Given the description of an element on the screen output the (x, y) to click on. 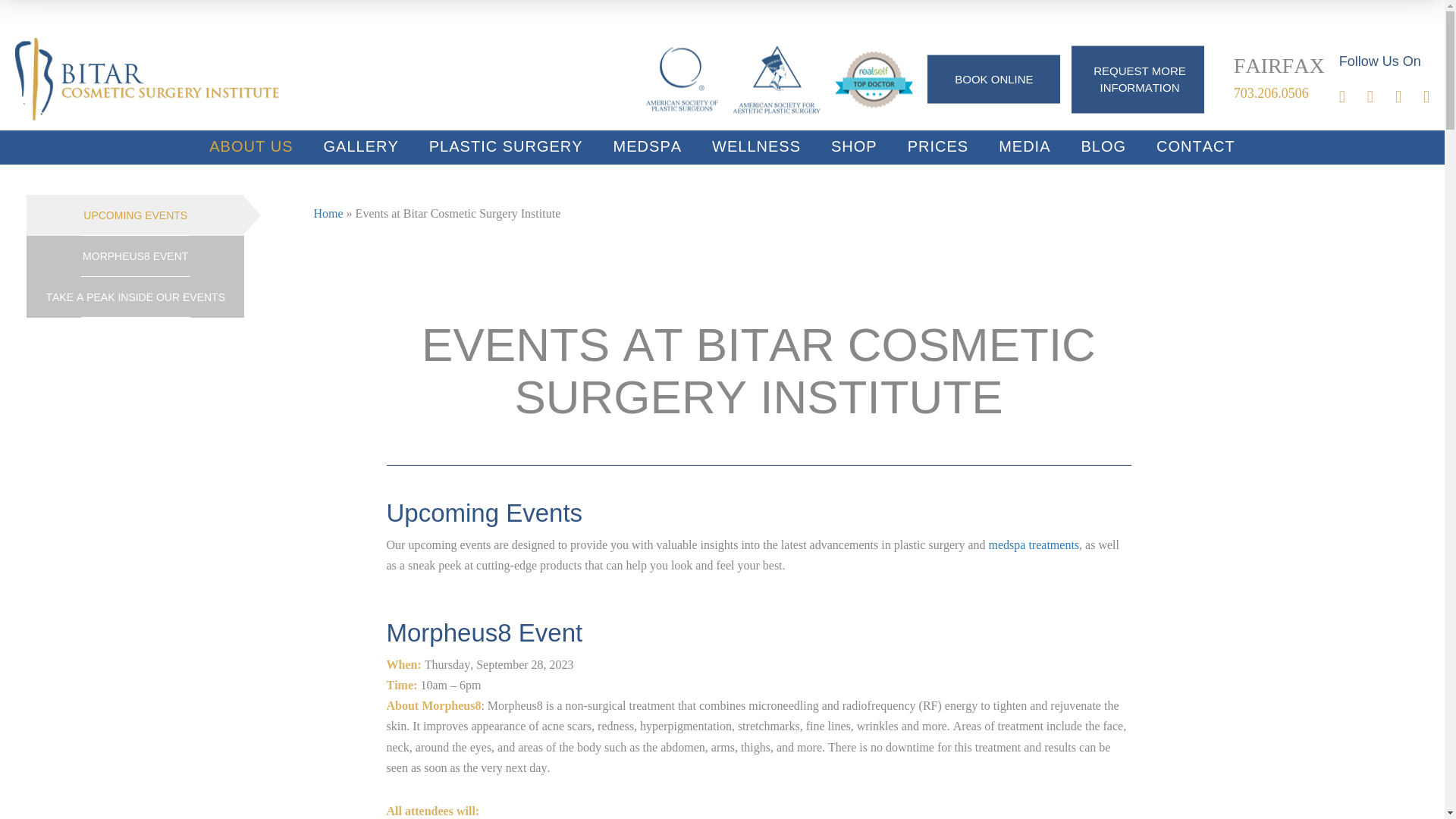
Bitar Cosmetic Surgery Institute (146, 77)
youtube (1408, 97)
facebook (1353, 97)
instagram (1380, 97)
